Given the description of an element on the screen output the (x, y) to click on. 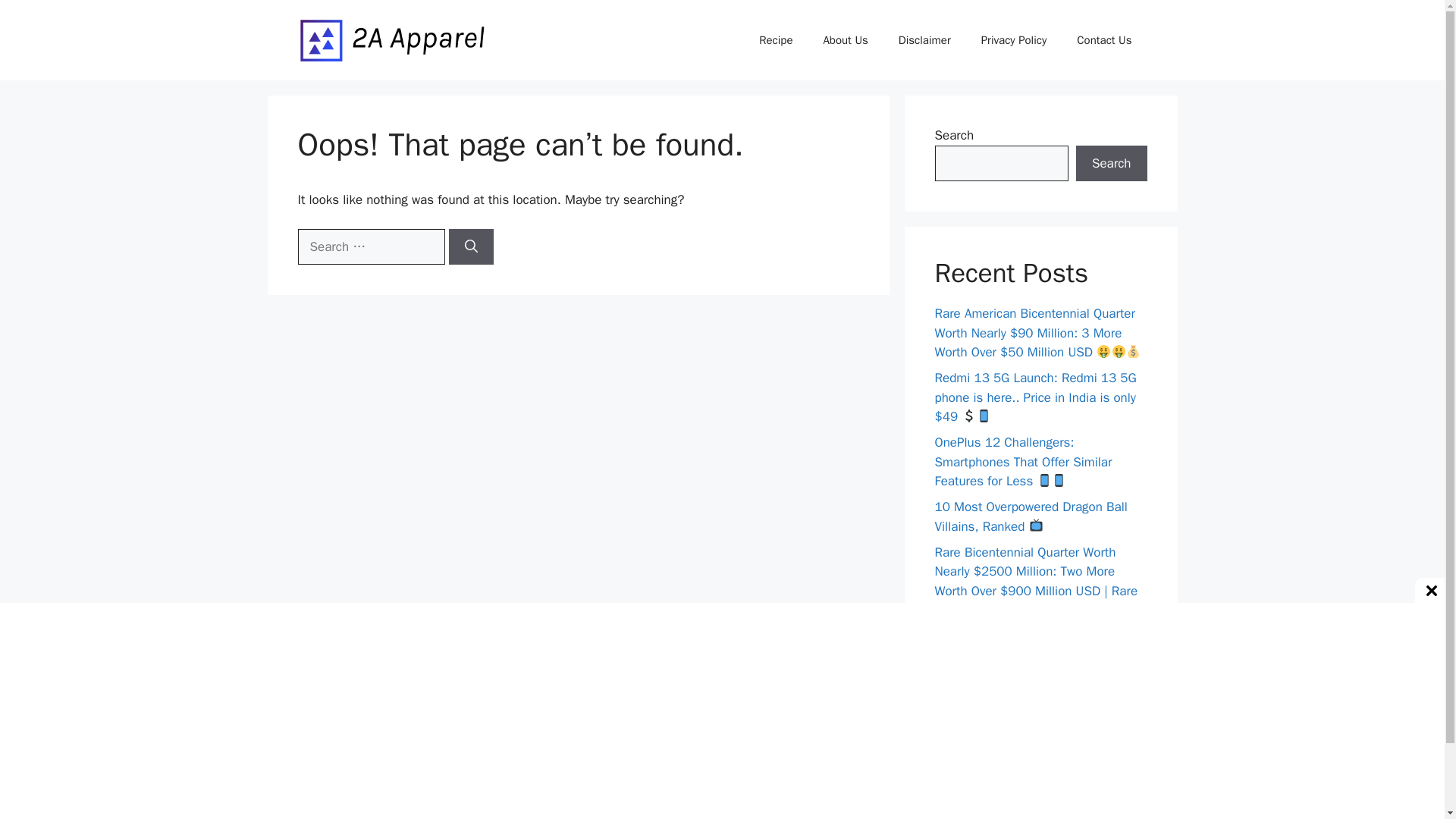
Recipe (776, 40)
10 Most Overpowered Dragon Ball Villains, Ranked (1030, 516)
Privacy Policy (1014, 40)
Search (1111, 163)
Disclaimer (924, 40)
Contact Us (1104, 40)
About Us (845, 40)
Search for: (370, 247)
